Given the description of an element on the screen output the (x, y) to click on. 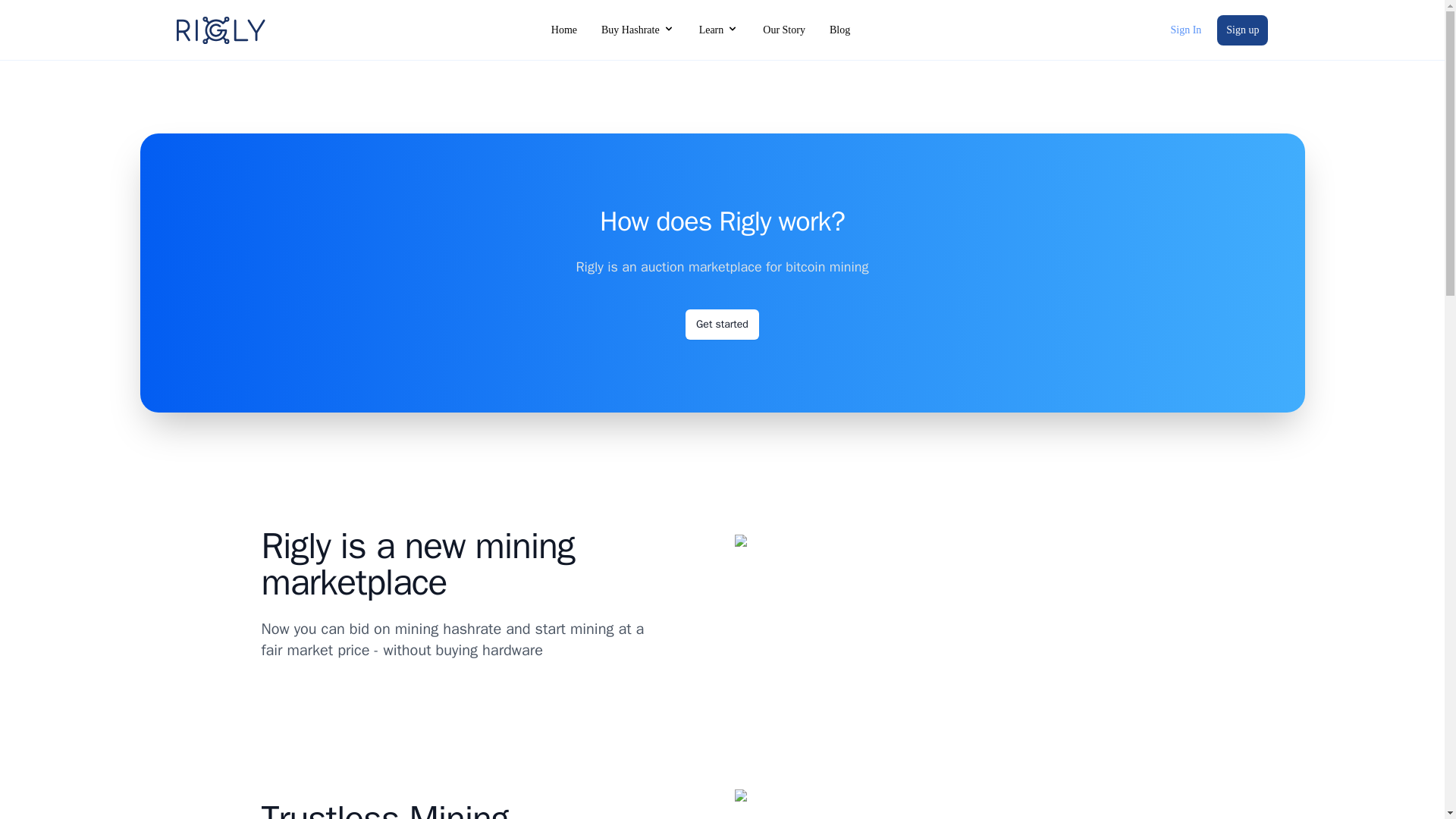
Our Story (783, 29)
Home (563, 29)
Blog (839, 29)
Sign In (1185, 30)
Get started (721, 324)
Sign up (1242, 30)
